Given the description of an element on the screen output the (x, y) to click on. 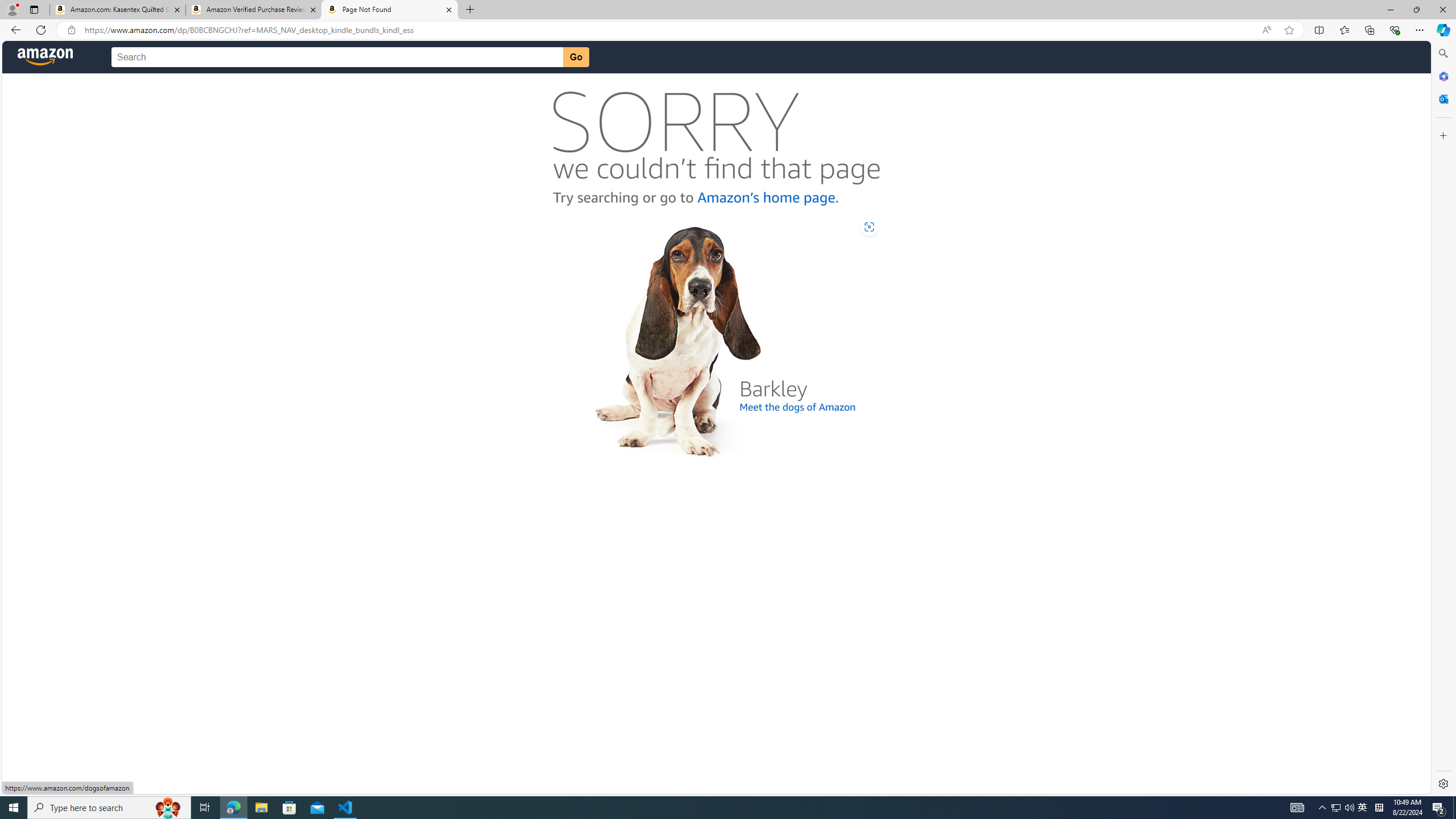
Dogs of Amazon (715, 337)
